Given the description of an element on the screen output the (x, y) to click on. 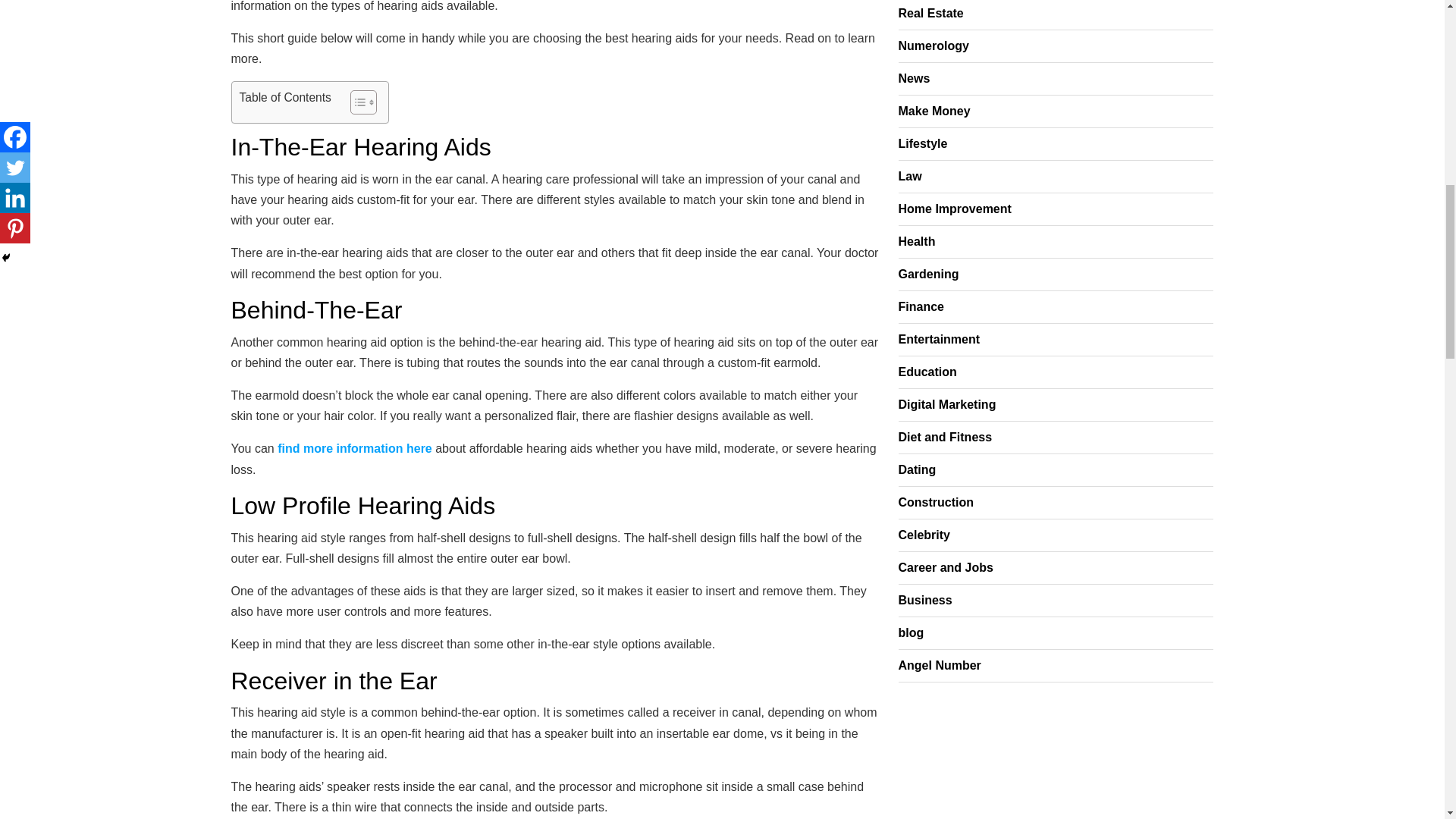
find more information here (355, 448)
